Given the description of an element on the screen output the (x, y) to click on. 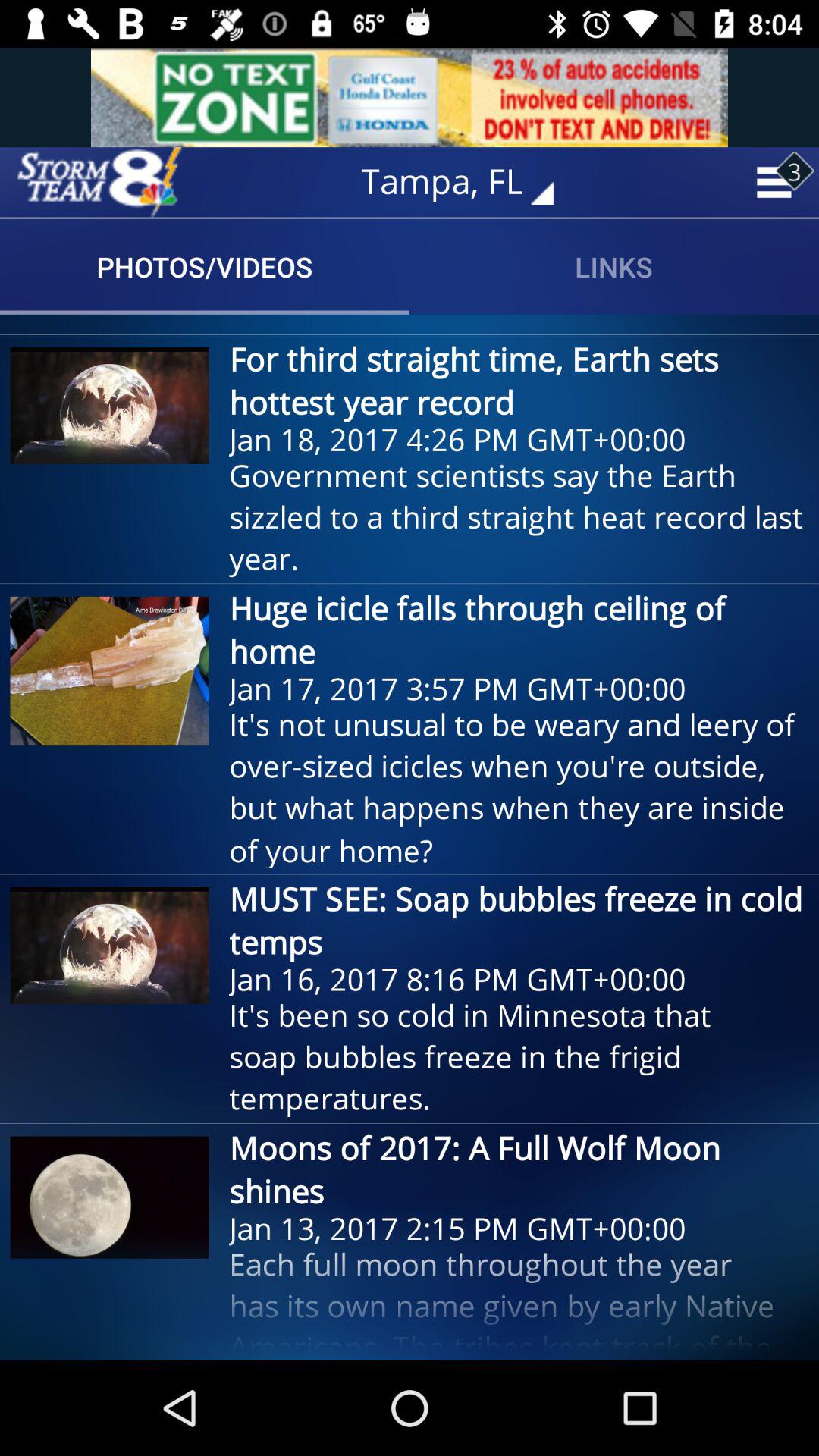
open advertisement (409, 97)
